Given the description of an element on the screen output the (x, y) to click on. 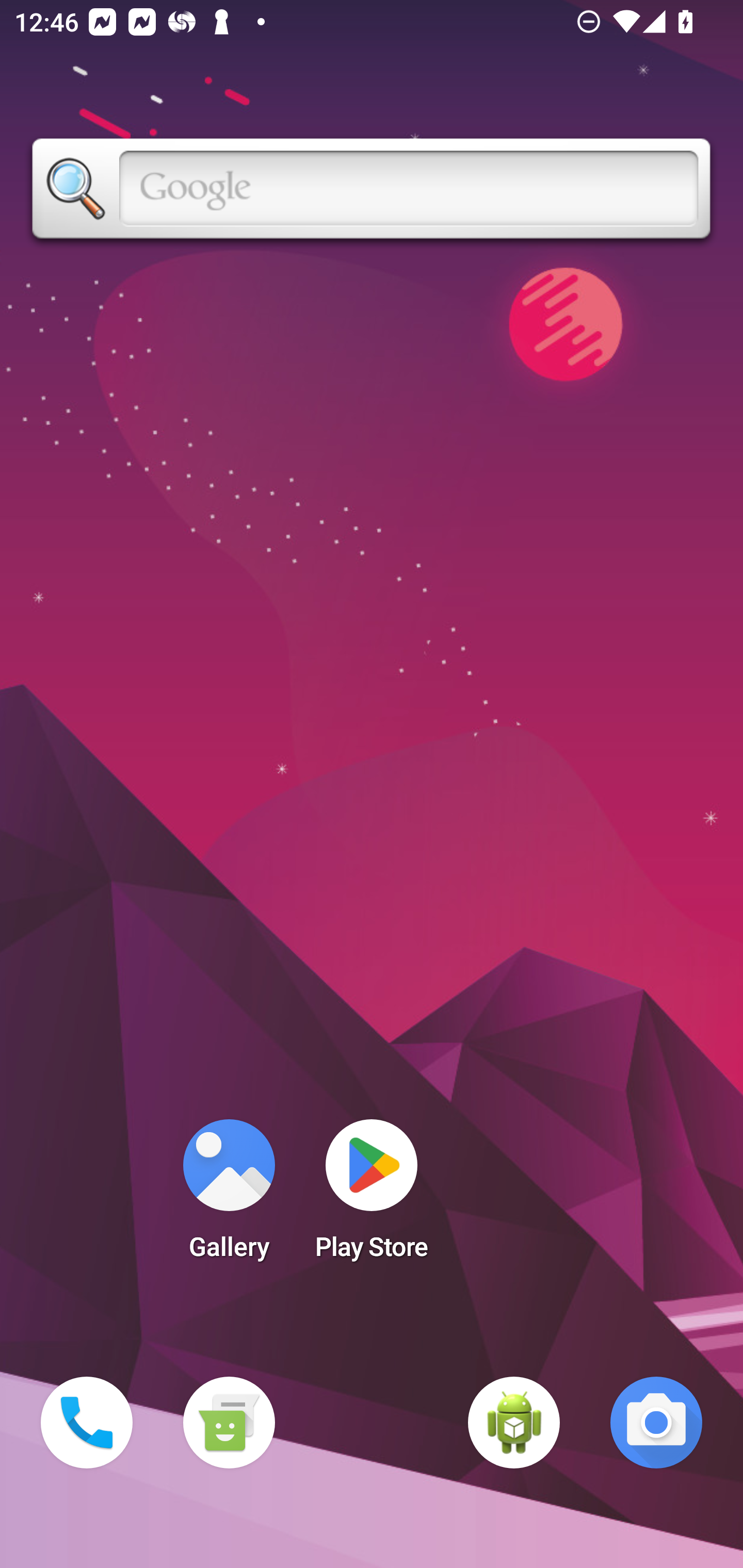
Gallery (228, 1195)
Play Store (371, 1195)
Phone (86, 1422)
Messaging (228, 1422)
WebView Browser Tester (513, 1422)
Camera (656, 1422)
